Given the description of an element on the screen output the (x, y) to click on. 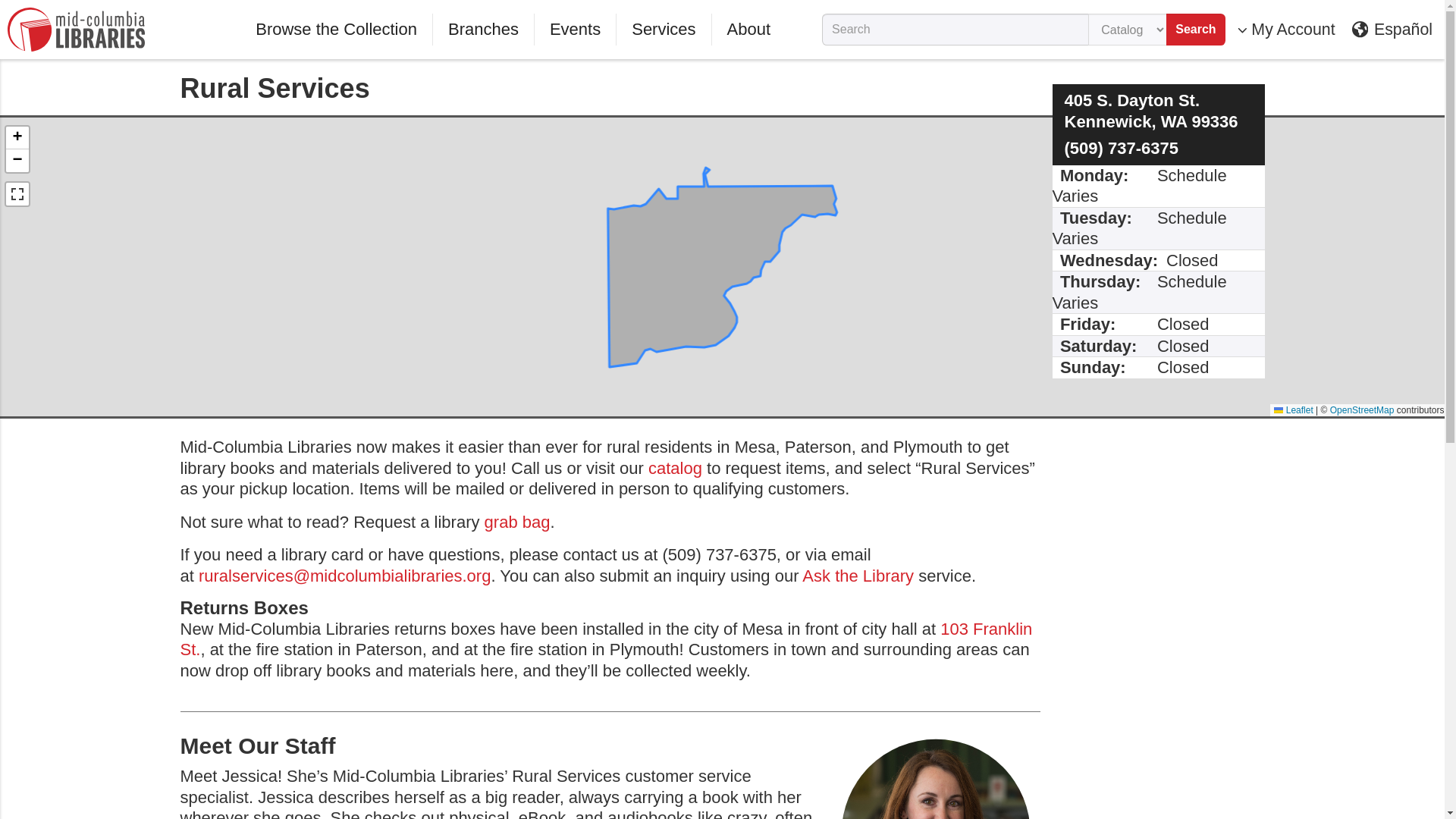
A JavaScript library for interactive maps (1293, 409)
Search (1195, 29)
Zoom out (17, 160)
My Account (1286, 29)
Zoom in (17, 137)
View Fullscreen (17, 193)
